Given the description of an element on the screen output the (x, y) to click on. 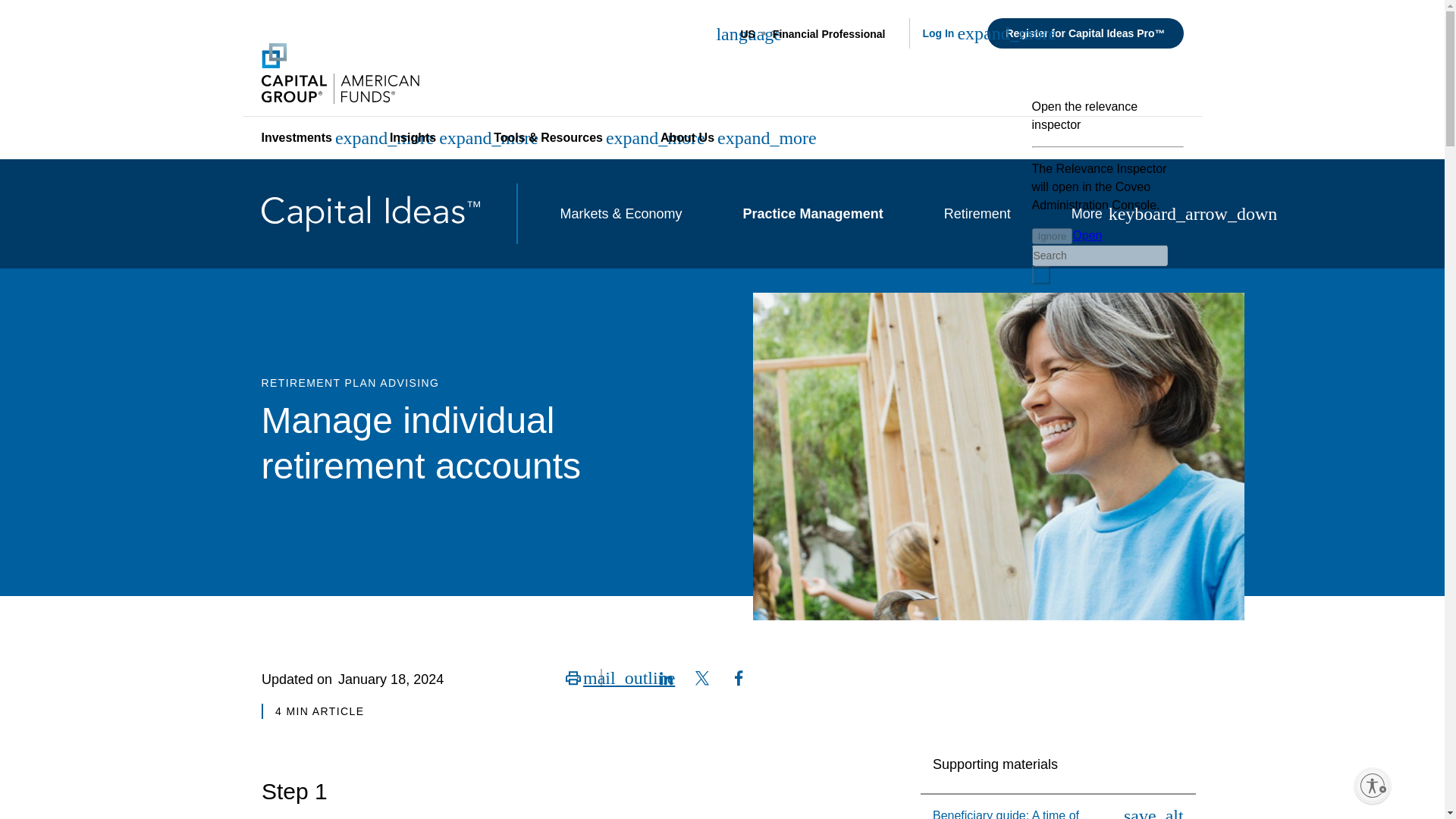
X, formerly known as Twitter (701, 678)
linkedin (665, 678)
facebook (737, 678)
print (571, 678)
email (628, 678)
opens in the same window (373, 73)
Enable accessibility (1372, 785)
Download (1064, 812)
Download (1159, 812)
